Given the description of an element on the screen output the (x, y) to click on. 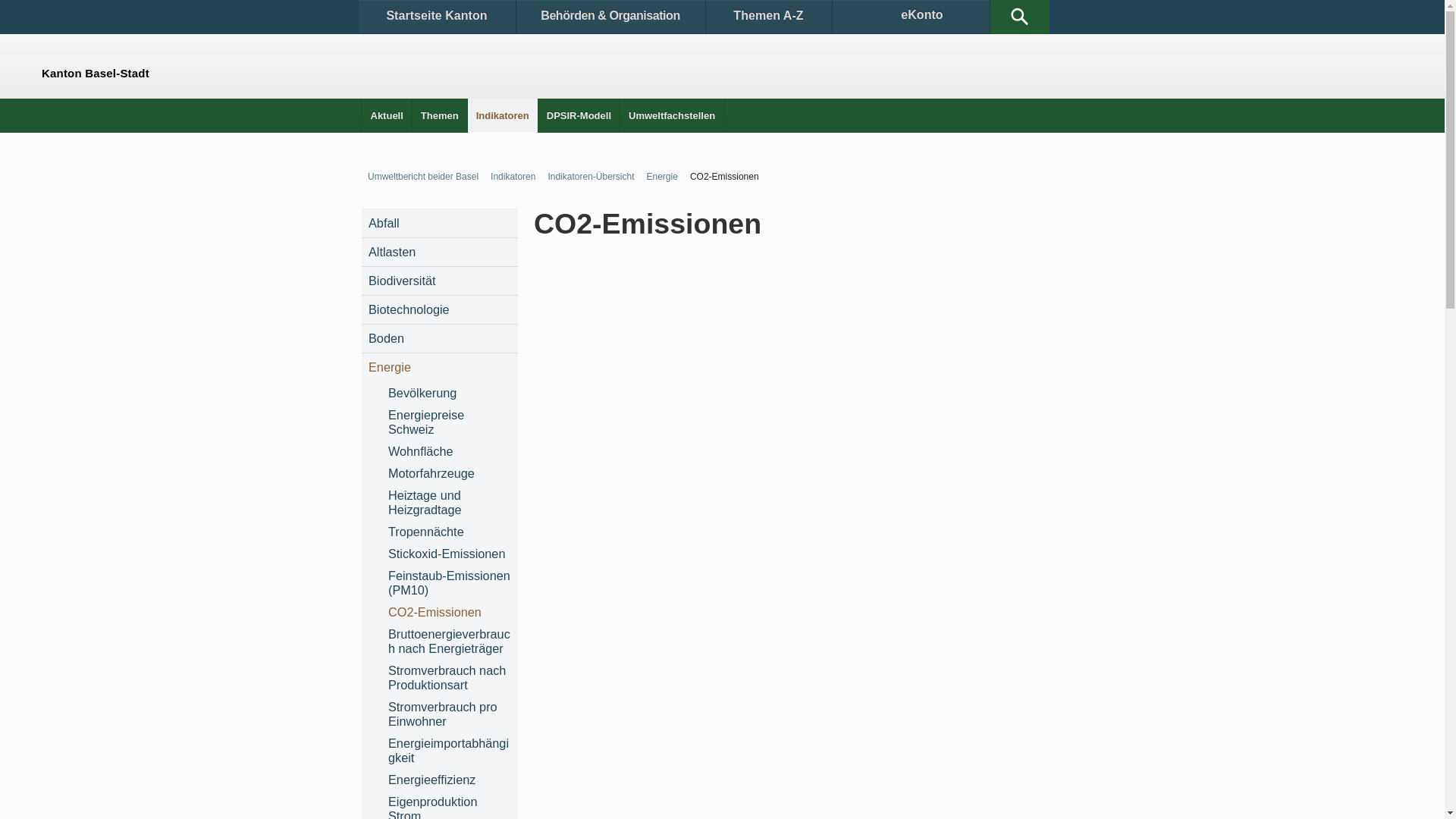
Biotechnologie Element type: text (439, 309)
DPSIR-Modell Element type: text (578, 115)
eKonto Element type: text (910, 17)
Stromverbrauch pro Einwohner Element type: text (449, 714)
Aktuell Element type: text (386, 115)
Themen Element type: text (439, 115)
Indikatoren Element type: text (502, 115)
Altlasten Element type: text (439, 252)
Umweltfachstellen Element type: text (671, 115)
Startseite Kanton Element type: text (435, 17)
Stickoxid-Emissionen Element type: text (449, 553)
Themen A-Z Element type: text (768, 17)
Stromverbrauch nach Produktionsart Element type: text (449, 677)
Energie Element type: text (658, 176)
Boden Element type: text (439, 338)
Kanton Basel-Stadt Element type: text (24, 62)
Abfall Element type: text (439, 223)
Energie Element type: text (439, 367)
Heiztage und Heizgradtage Element type: text (449, 502)
Motorfahrzeuge Element type: text (449, 473)
Umweltbericht beider Basel Element type: text (419, 176)
Energiepreise Schweiz Element type: text (449, 422)
Feinstaub-Emissionen (PM10) Element type: text (449, 582)
Energieeffizienz Element type: text (449, 779)
Indikatoren Element type: text (509, 176)
